Given the description of an element on the screen output the (x, y) to click on. 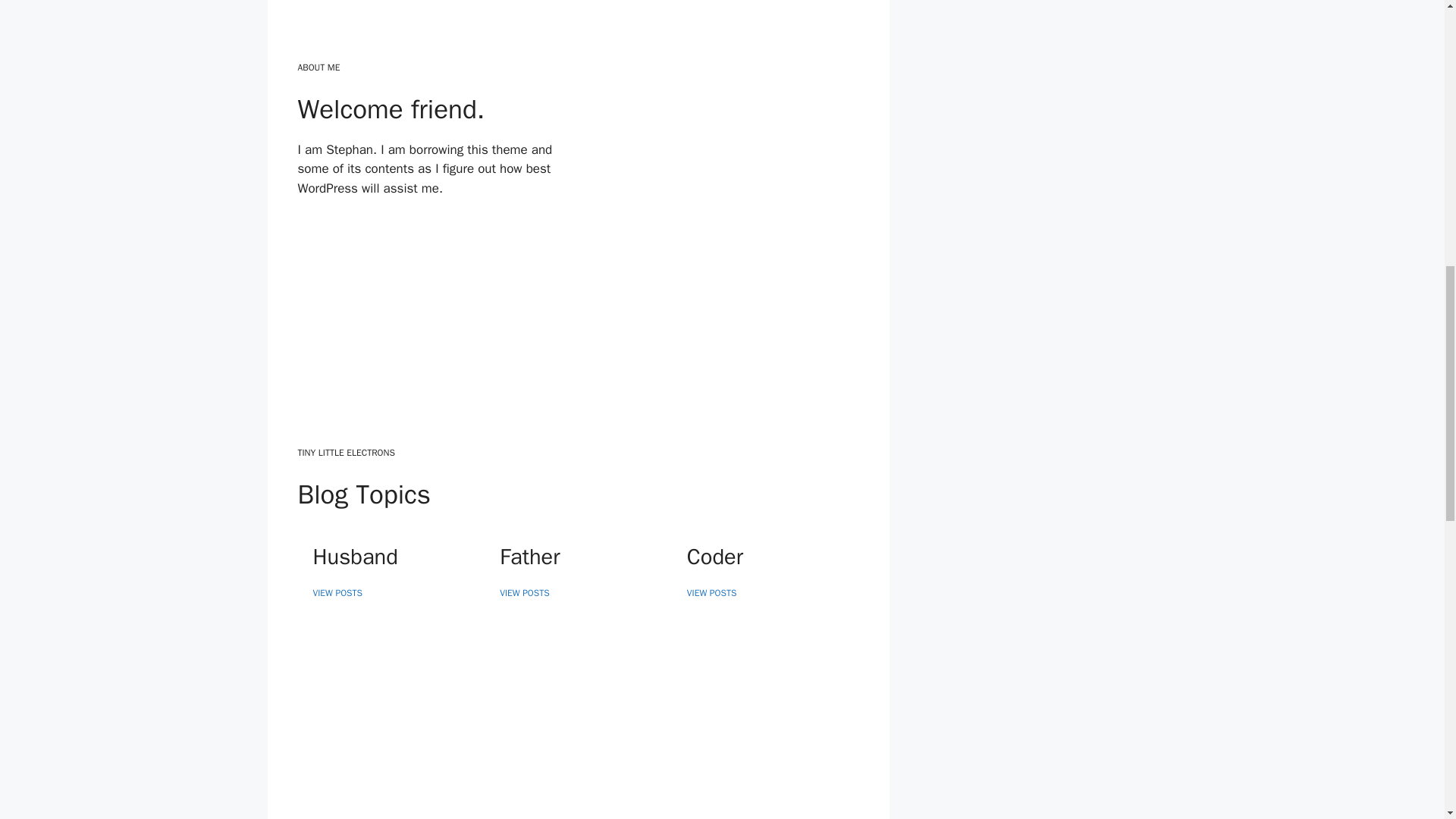
VIEW POSTS (337, 592)
VIEW POSTS (523, 592)
VIEW POSTS (711, 592)
Go to blog (326, 227)
